Given the description of an element on the screen output the (x, y) to click on. 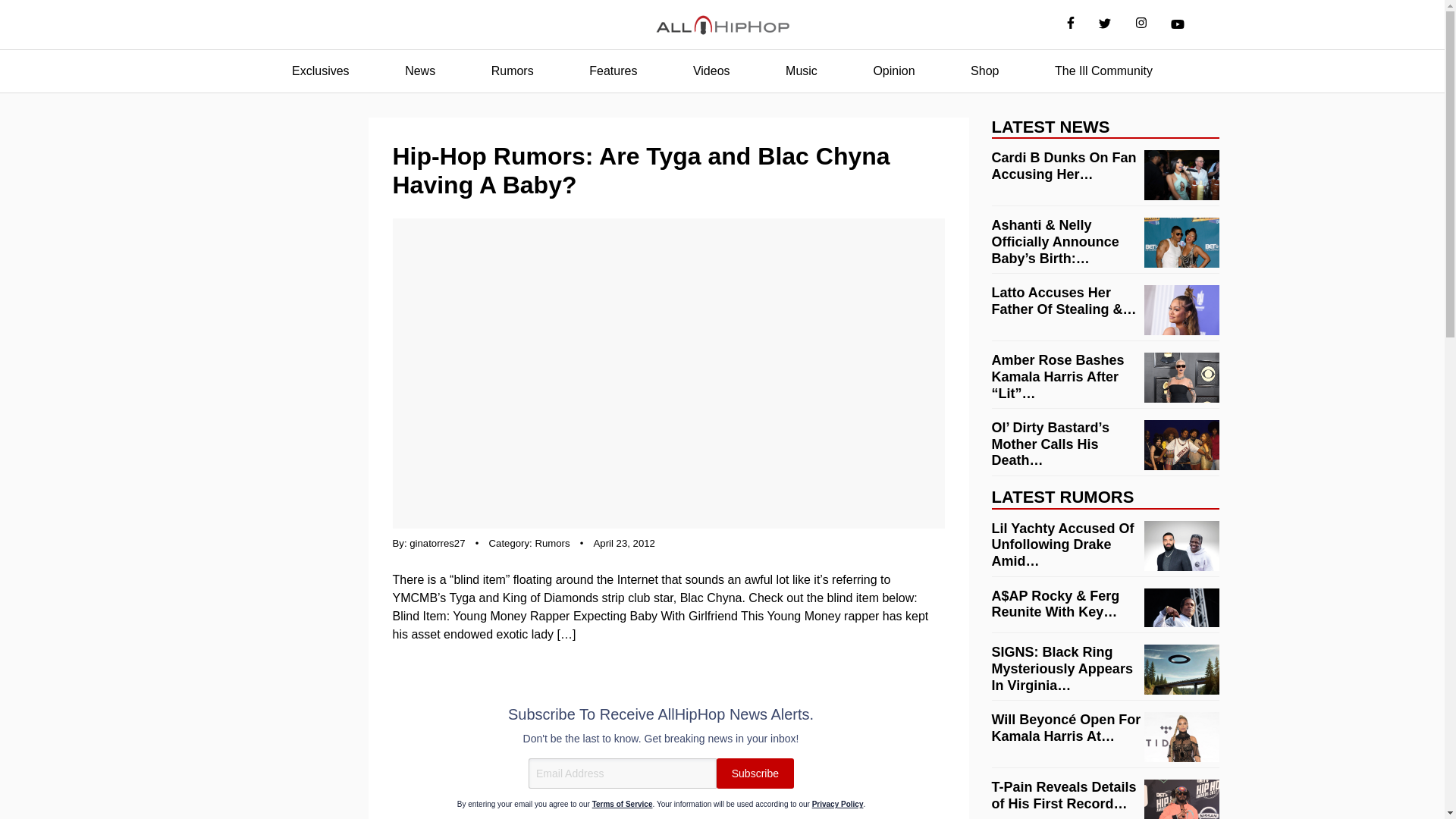
Rumors (551, 542)
Exclusives (320, 70)
Videos (711, 70)
April 23, 2012 (624, 542)
ginatorres27 (436, 542)
Shop (984, 70)
The Ill Community (1103, 70)
Opinion (893, 70)
Features (612, 70)
Music (801, 70)
